Given the description of an element on the screen output the (x, y) to click on. 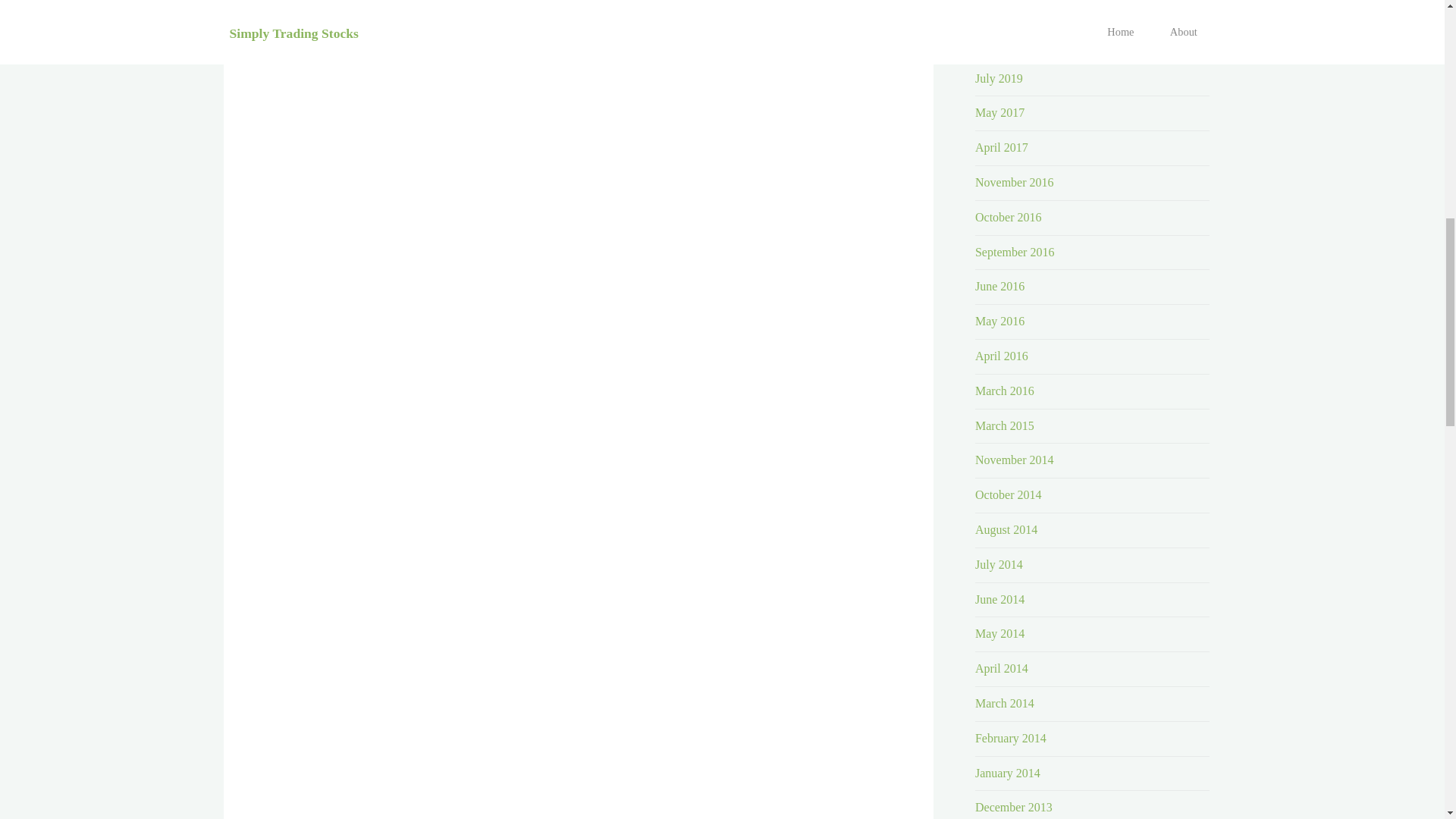
October 2016 (1008, 216)
July 2019 (999, 78)
May 2017 (1000, 112)
August 2020 (1005, 8)
November 2016 (1014, 182)
April 2017 (1001, 146)
September 2019 (1014, 42)
